Given the description of an element on the screen output the (x, y) to click on. 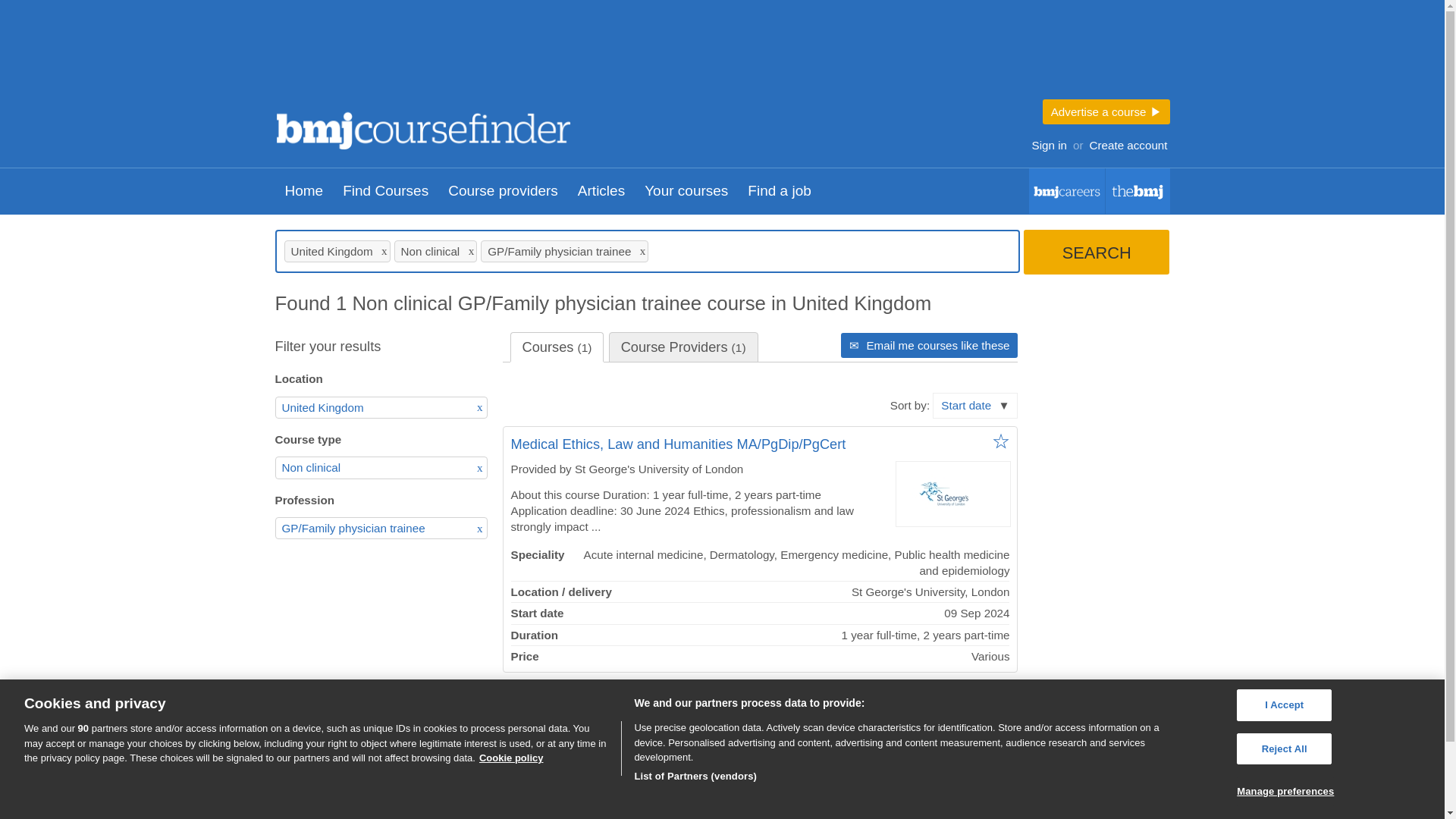
Find a job (779, 191)
Find Courses (308, 815)
Home (304, 191)
Your courses (686, 191)
Start date (975, 405)
Email me courses like these (929, 344)
SEARCH (1096, 252)
United Kingdom (380, 407)
Filter your results (369, 346)
Find Courses (385, 191)
